Given the description of an element on the screen output the (x, y) to click on. 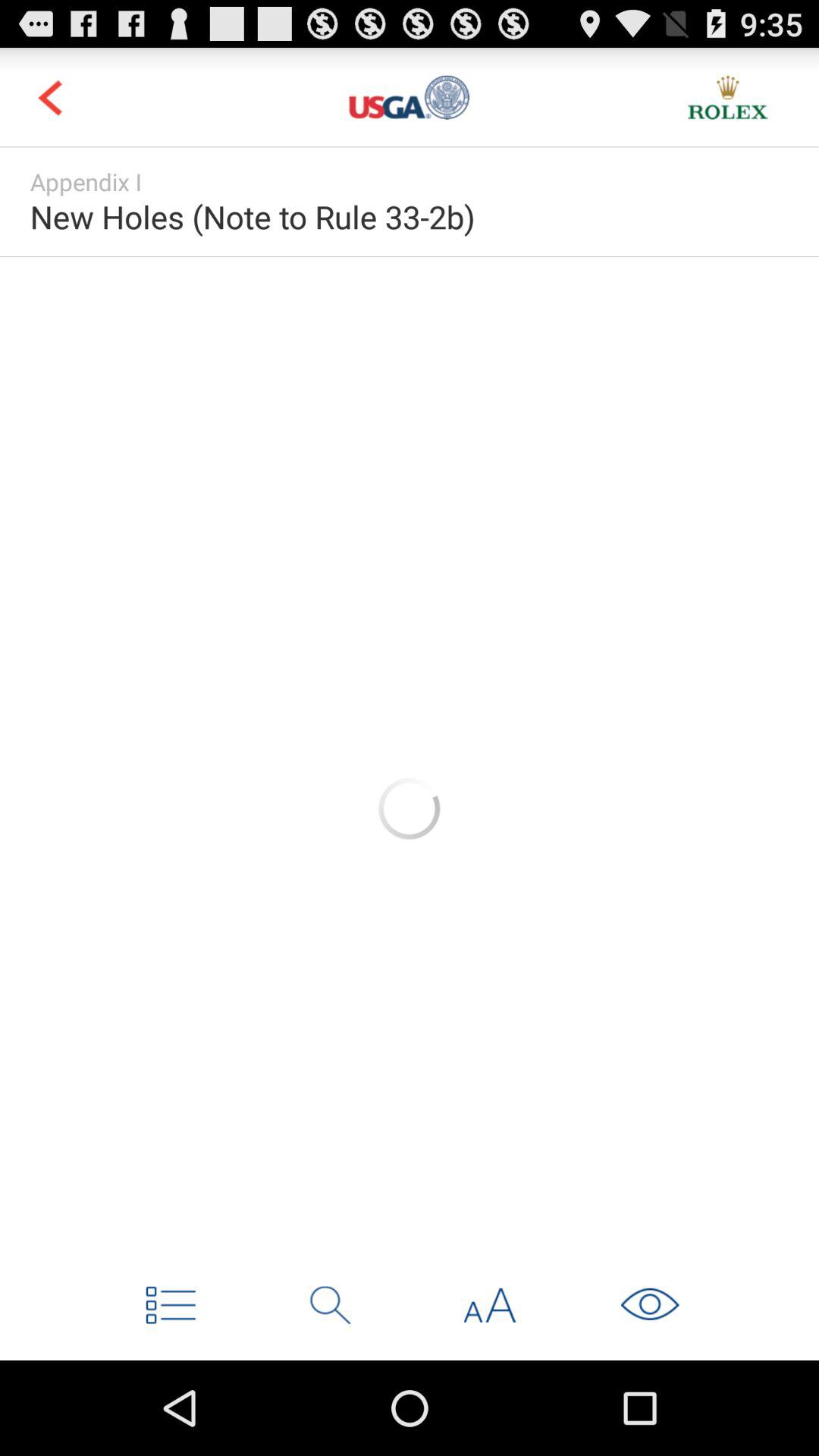
loading image (409, 808)
